Given the description of an element on the screen output the (x, y) to click on. 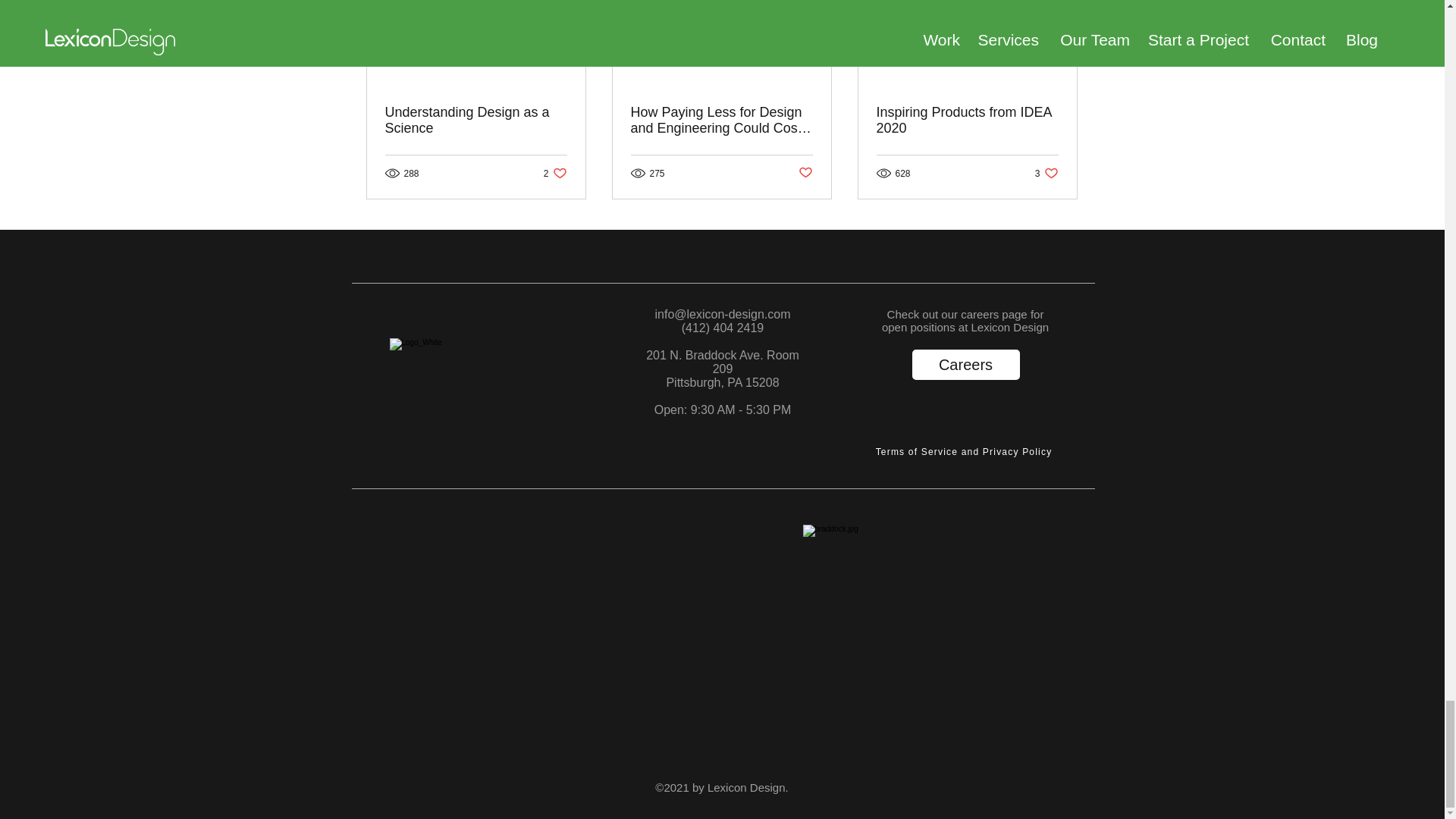
How Paying Less for Design and Engineering Could Cost You (555, 173)
Understanding Design as a Science (721, 120)
Careers (476, 120)
Terms of Service and Privacy Policy (1046, 173)
Post not marked as liked (965, 364)
Inspiring Products from IDEA 2020 (966, 452)
